Given the description of an element on the screen output the (x, y) to click on. 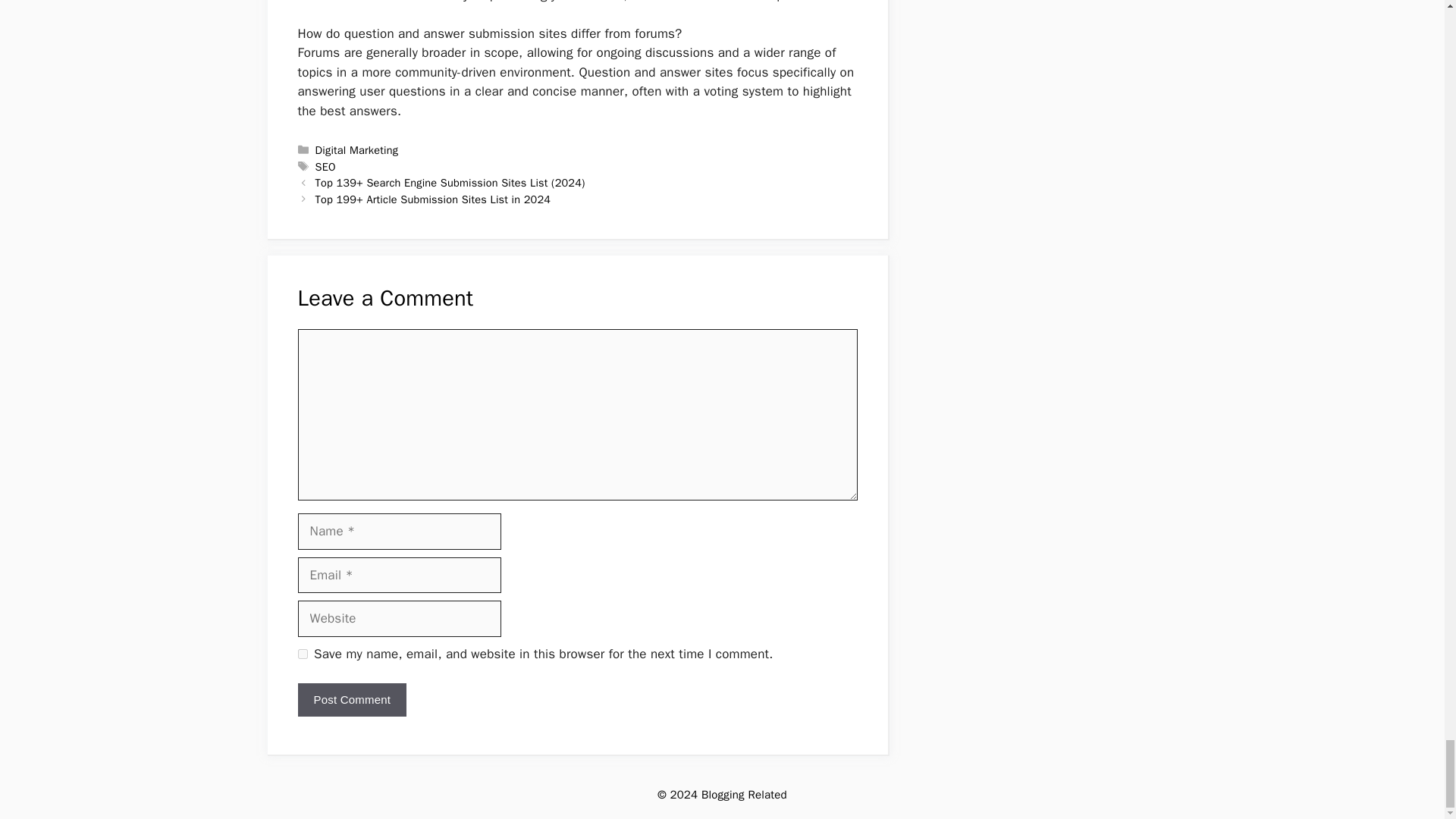
yes (302, 654)
Post Comment (351, 700)
